Given the description of an element on the screen output the (x, y) to click on. 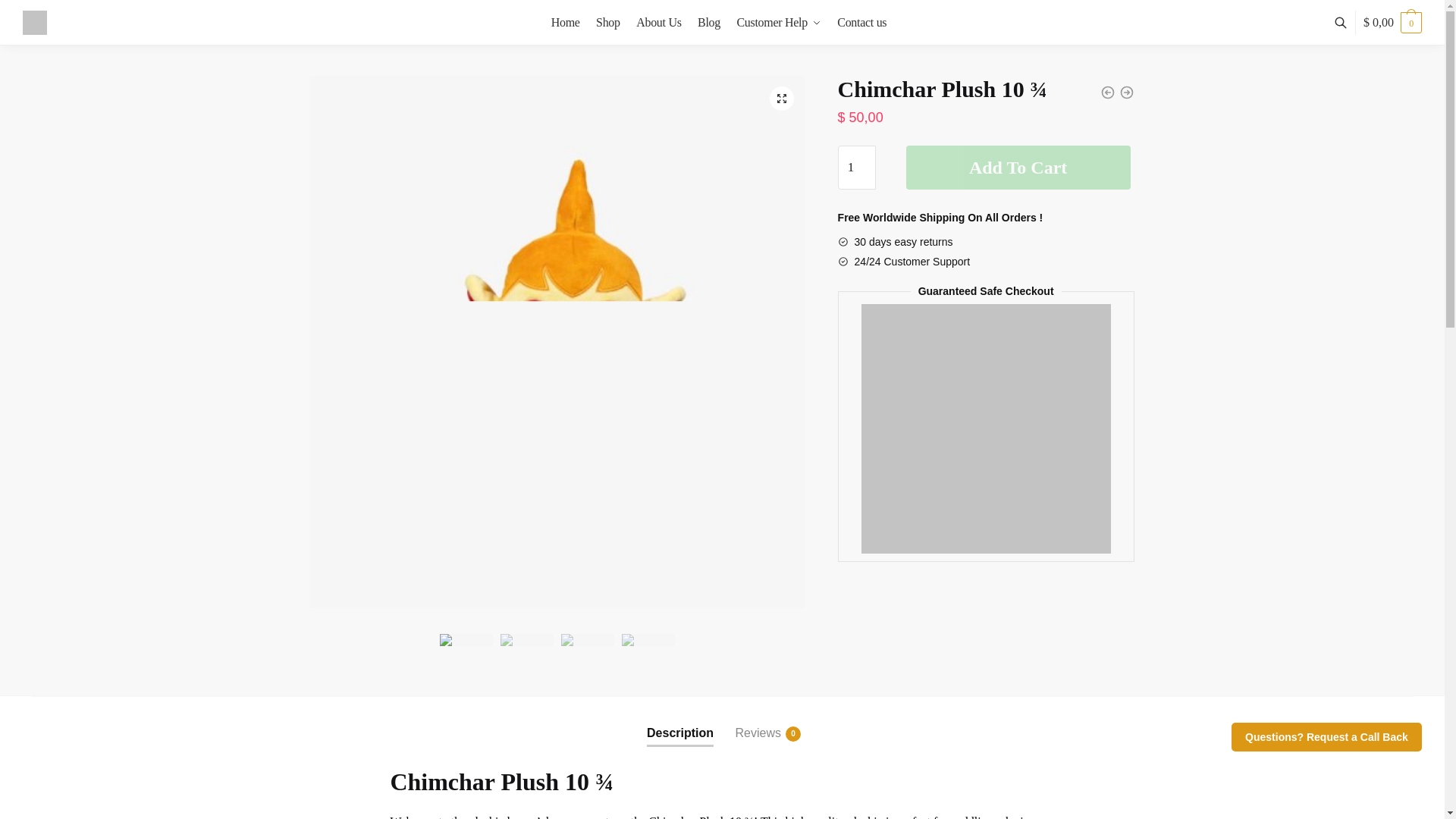
About Us (658, 22)
Contact us (861, 22)
Customer Help (778, 22)
View your shopping cart (1392, 22)
Search (461, 47)
